Given the description of an element on the screen output the (x, y) to click on. 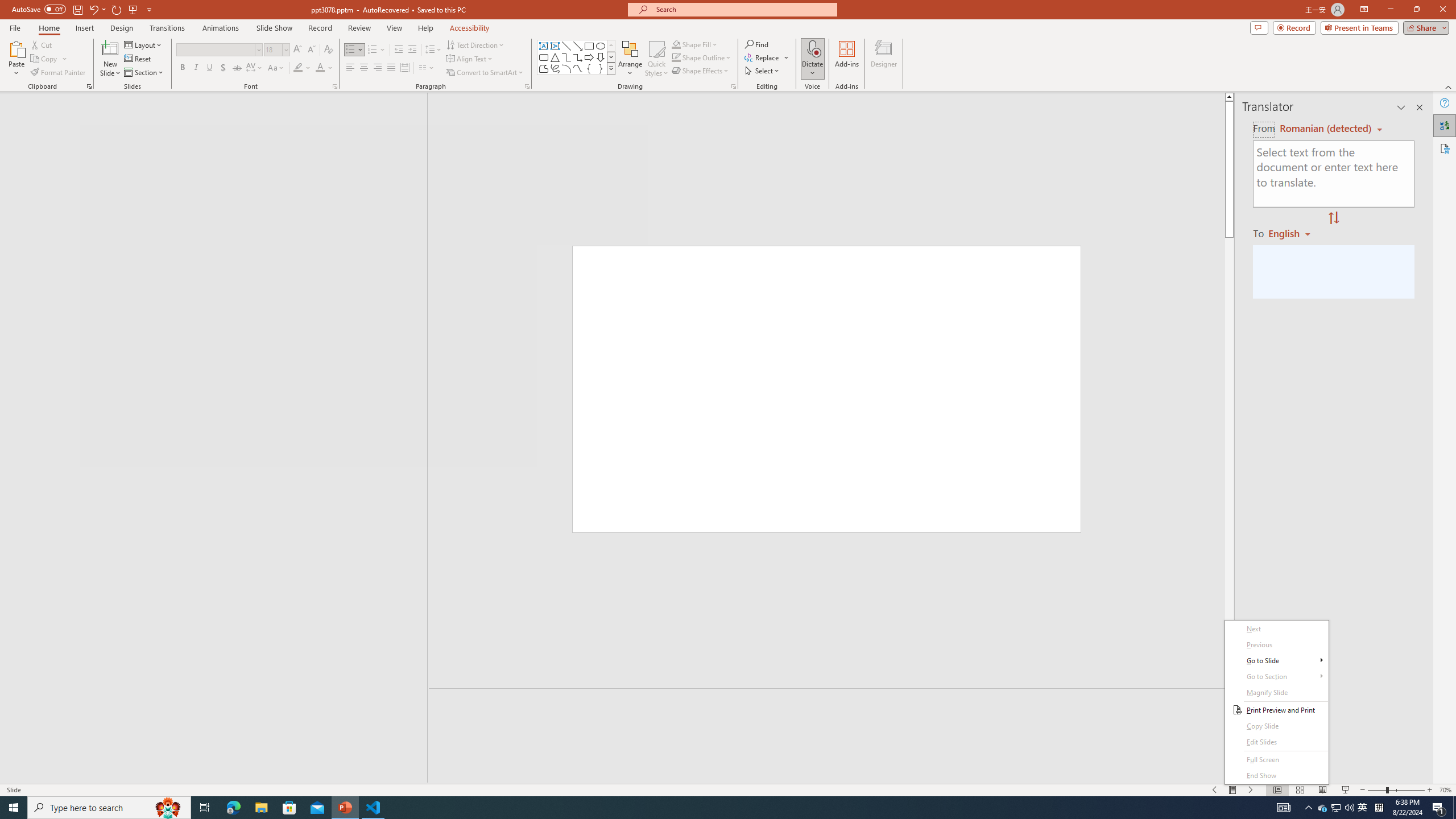
Connector: Elbow Arrow (577, 57)
Notification Chevron (1308, 807)
Row Down (611, 56)
Arc (566, 68)
Rectangle (208, 437)
Outline (218, 122)
Full Screen (1322, 807)
Layout (1276, 759)
Line Arrow (143, 44)
Microsoft Edge (577, 45)
